Given the description of an element on the screen output the (x, y) to click on. 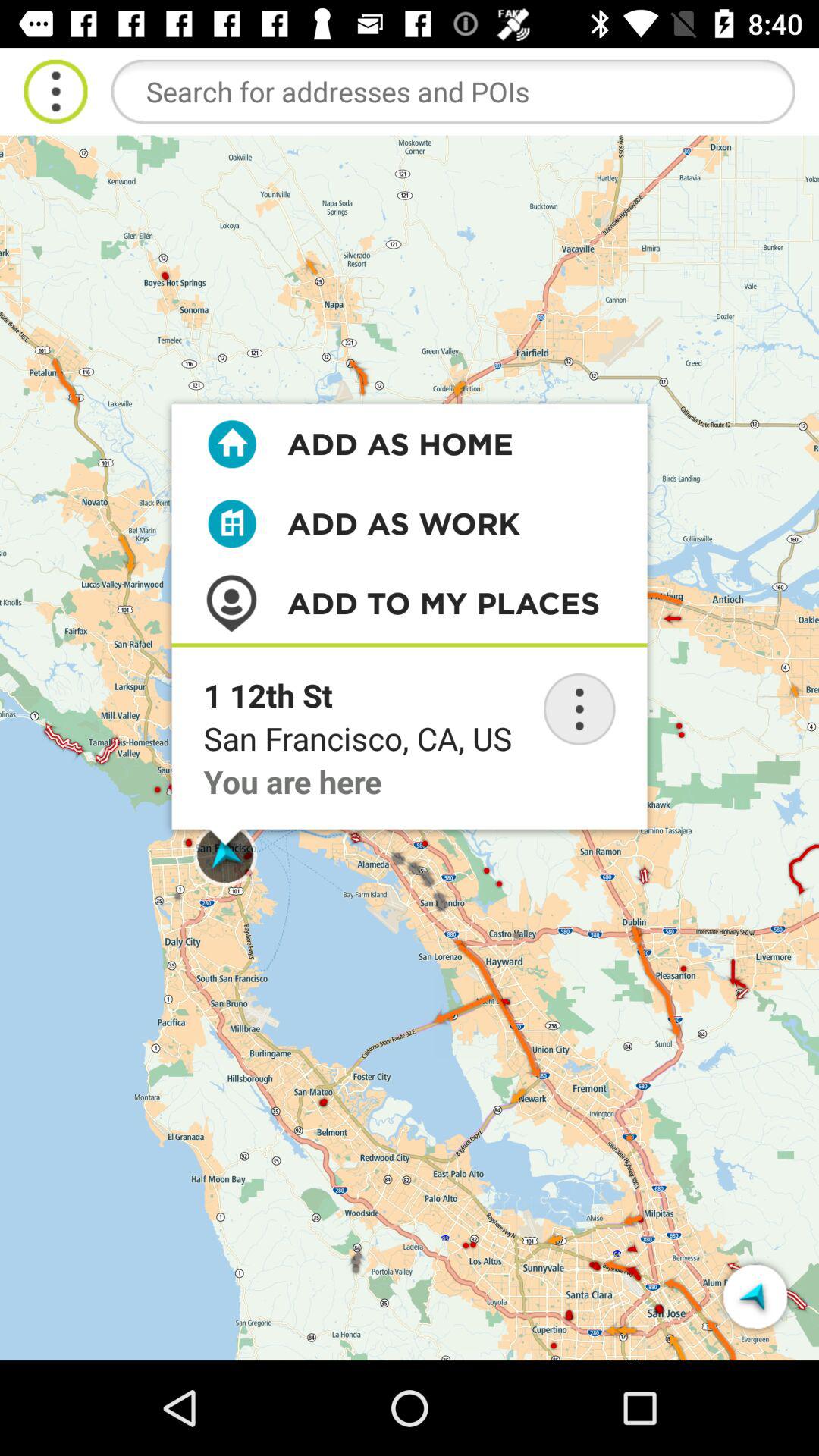
search your address (453, 91)
